Given the description of an element on the screen output the (x, y) to click on. 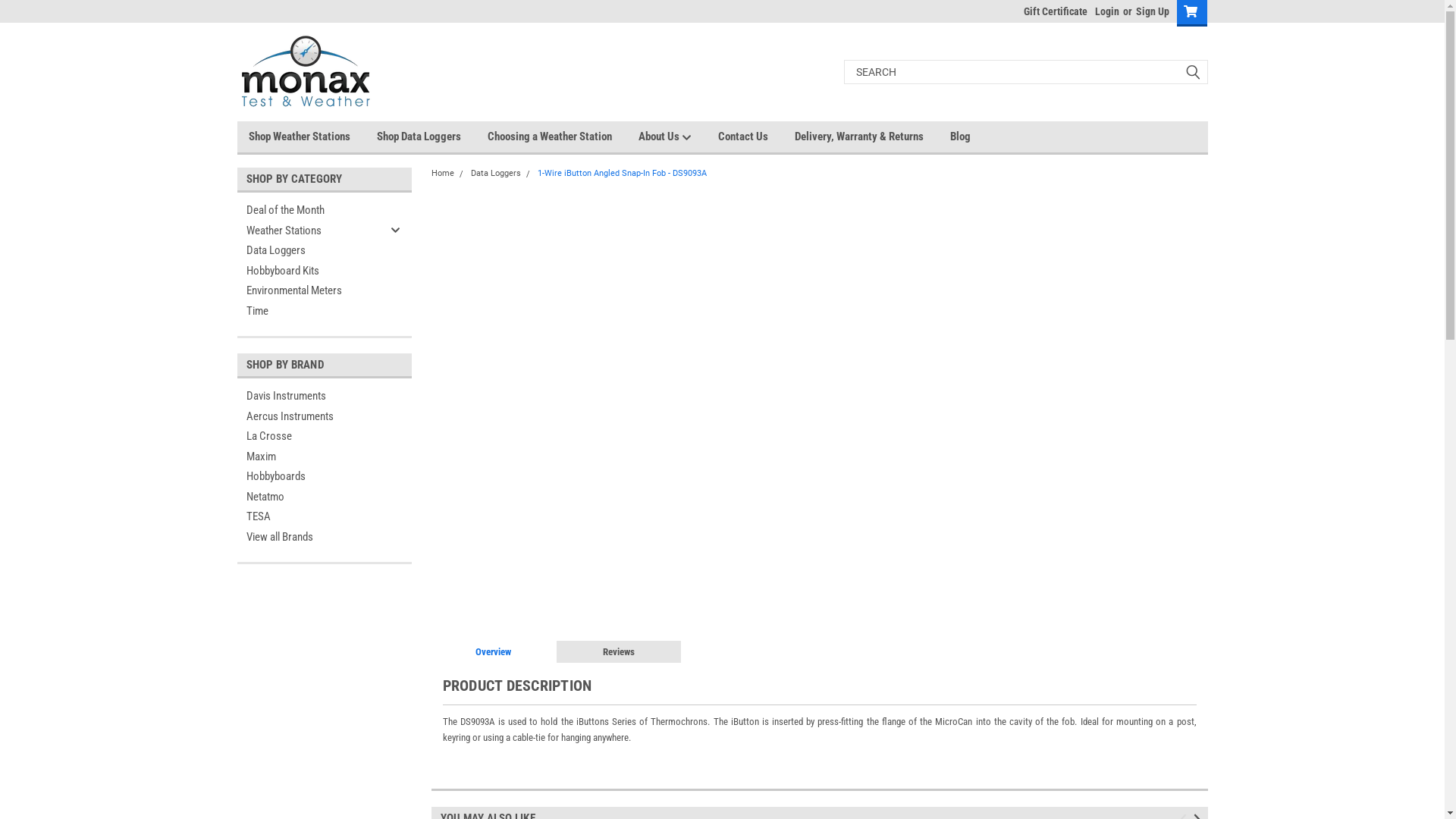
Blog Element type: text (972, 136)
Maxim Element type: text (323, 455)
La Crosse Element type: text (323, 436)
Login Element type: text (1107, 11)
Shop Weather Stations Element type: text (312, 136)
View all Brands Element type: text (323, 536)
Gift Certificate Element type: text (1051, 11)
Weather Stations Element type: text (310, 229)
Davis Instruments Element type: text (323, 395)
Deal of the Month Element type: text (310, 210)
Delivery, Warranty & Returns Element type: text (872, 136)
TESA Element type: text (323, 516)
Choosing a Weather Station Element type: text (561, 136)
Hobbyboard Kits Element type: text (310, 270)
Environmental Meters Element type: text (310, 290)
submit Element type: hover (1191, 71)
Data Loggers Element type: text (495, 173)
Home Element type: text (441, 173)
About Us Element type: text (678, 136)
Netatmo Element type: text (323, 496)
Monax Element type: hover (305, 71)
Aercus Instruments Element type: text (323, 416)
1-Wire iButton Angled Snap-In Fob - DS9093A Element type: text (621, 173)
Data Loggers Element type: text (310, 250)
Sign Up Element type: text (1149, 11)
Hobbyboards Element type: text (323, 476)
Contact Us Element type: text (755, 136)
Overview Element type: text (492, 651)
Time Element type: text (310, 310)
Shop Data Loggers Element type: text (431, 136)
Reviews Element type: text (618, 651)
